Given the description of an element on the screen output the (x, y) to click on. 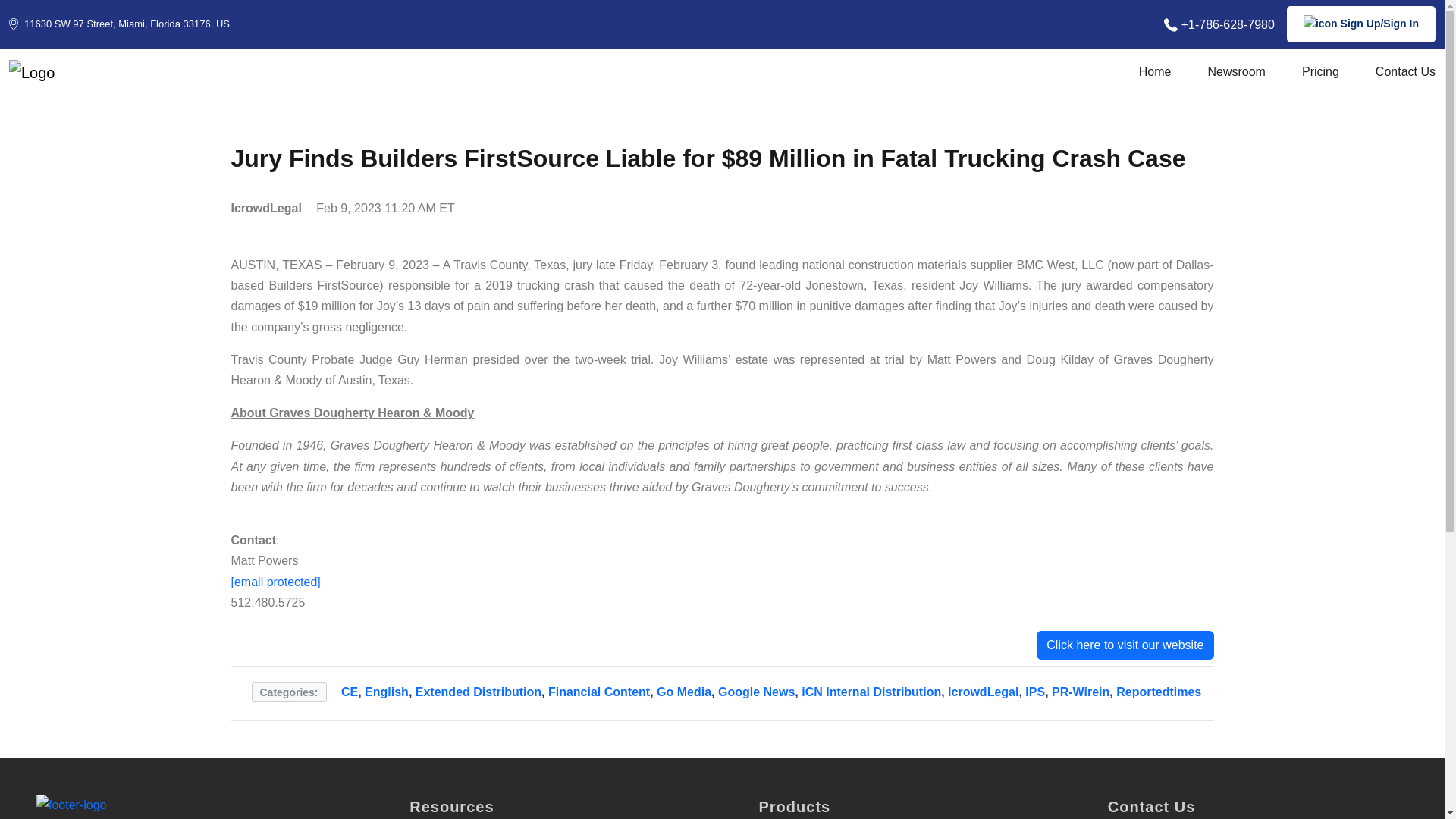
Financial Content (598, 691)
Reportedtimes (1158, 691)
CE (349, 691)
Home (1155, 71)
IcrowdLegal (982, 691)
Extended Distribution (477, 691)
Go Media (683, 691)
Contact Us (1405, 71)
Newsroom (1236, 71)
Click here to visit our website (1124, 645)
